Given the description of an element on the screen output the (x, y) to click on. 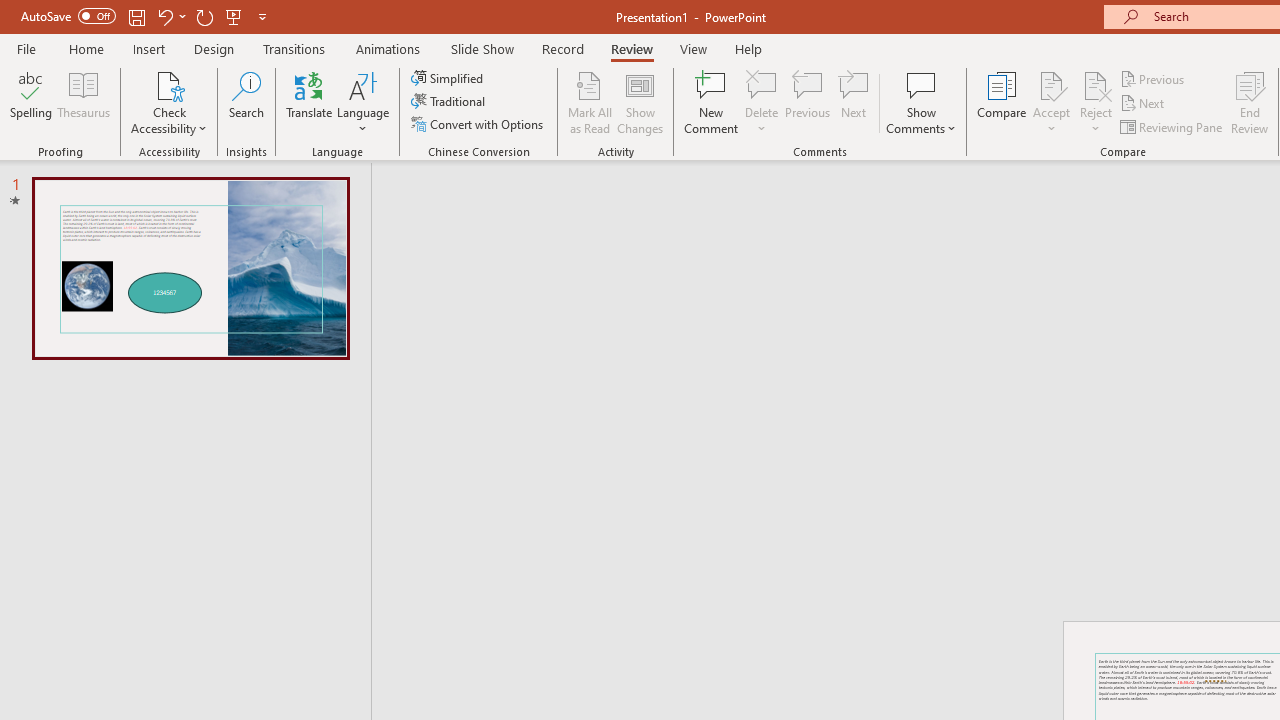
Accept (1051, 102)
Insert (149, 48)
More Options (1096, 121)
Traditional (449, 101)
Redo (204, 15)
Reject (1096, 102)
From Beginning (234, 15)
Search (246, 102)
Previous (1153, 78)
Undo (164, 15)
Mark All as Read (589, 102)
Quick Access Toolbar (145, 16)
Language (363, 102)
AutoSave (68, 16)
System (10, 11)
